Given the description of an element on the screen output the (x, y) to click on. 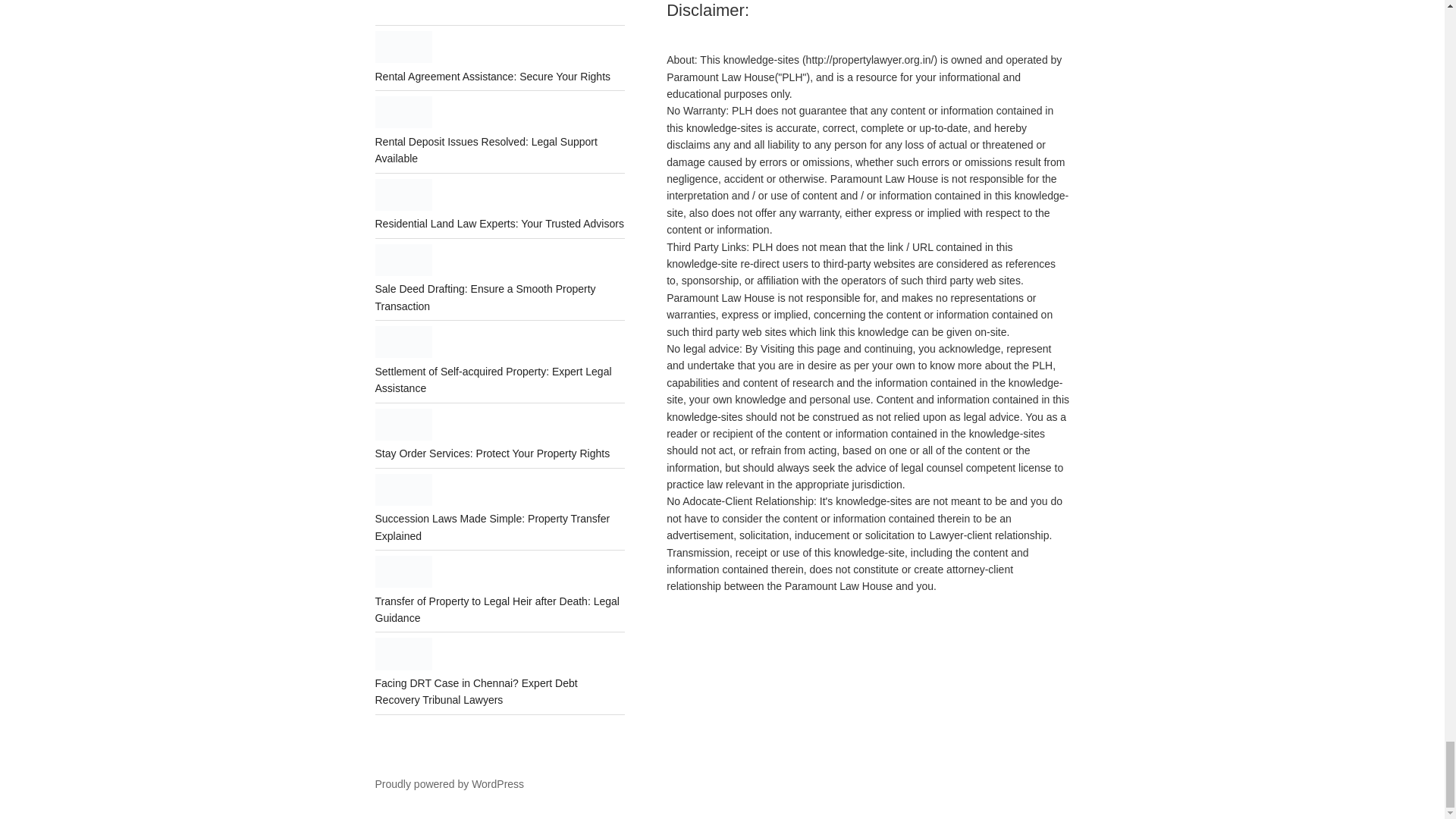
Rental Agreement Assistance: Secure Your Rights (492, 76)
Proudly powered by WordPress (449, 784)
Sale Deed Drafting: Ensure a Smooth Property Transaction (484, 297)
Succession Laws Made Simple: Property Transfer Explained (492, 526)
Rental Deposit Issues Resolved: Legal Support Available (485, 149)
Residential Land Law Experts: Your Trusted Advisors (498, 223)
Stay Order Services: Protect Your Property Rights (492, 453)
